Given the description of an element on the screen output the (x, y) to click on. 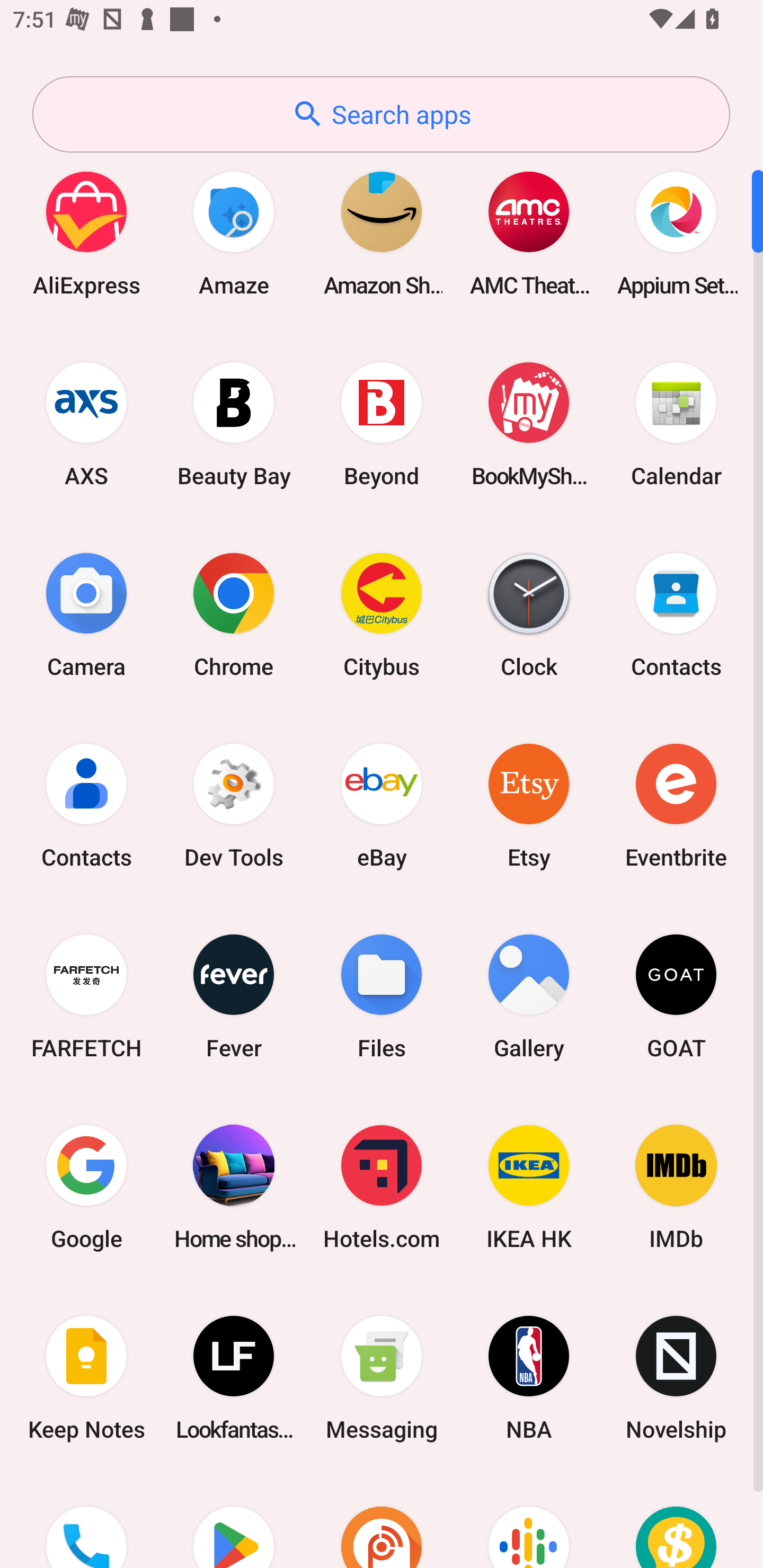
  Search apps (381, 114)
AliExpress (86, 233)
Amaze (233, 233)
Amazon Shopping (381, 233)
AMC Theatres (528, 233)
Appium Settings (676, 233)
AXS (86, 424)
Beauty Bay (233, 424)
Beyond (381, 424)
BookMyShow (528, 424)
Calendar (676, 424)
Camera (86, 614)
Chrome (233, 614)
Citybus (381, 614)
Clock (528, 614)
Contacts (676, 614)
Contacts (86, 805)
Dev Tools (233, 805)
eBay (381, 805)
Etsy (528, 805)
Eventbrite (676, 805)
FARFETCH (86, 996)
Fever (233, 996)
Files (381, 996)
Gallery (528, 996)
GOAT (676, 996)
Google (86, 1186)
Home shopping (233, 1186)
Hotels.com (381, 1186)
IKEA HK (528, 1186)
IMDb (676, 1186)
Keep Notes (86, 1377)
Lookfantastic (233, 1377)
Messaging (381, 1377)
NBA (528, 1377)
Novelship (676, 1377)
Phone (86, 1520)
Play Store (233, 1520)
Podcast Addict (381, 1520)
Podcasts (528, 1520)
Price (676, 1520)
